Given the description of an element on the screen output the (x, y) to click on. 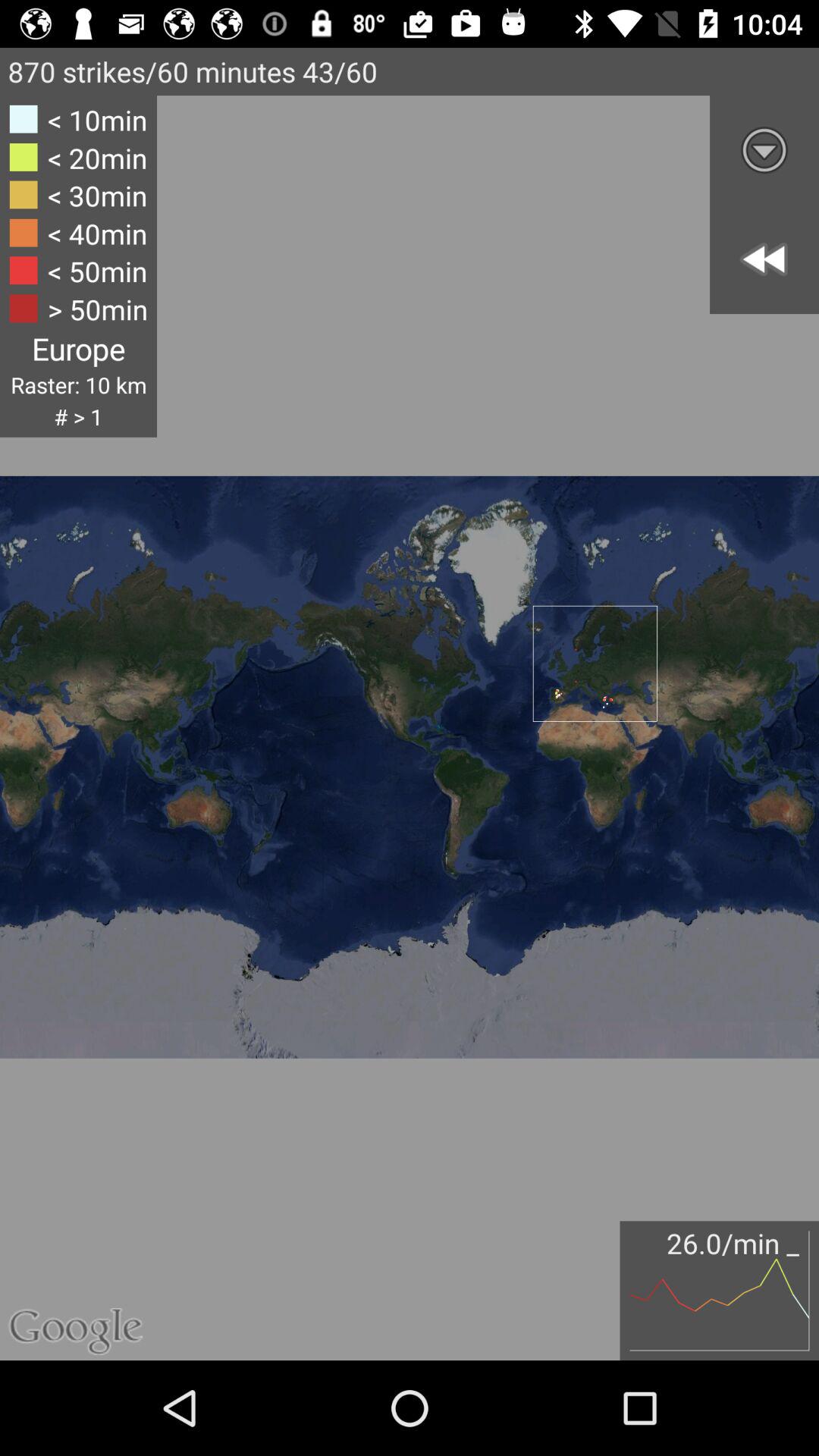
turn on item at the bottom left corner (89, 1270)
